Given the description of an element on the screen output the (x, y) to click on. 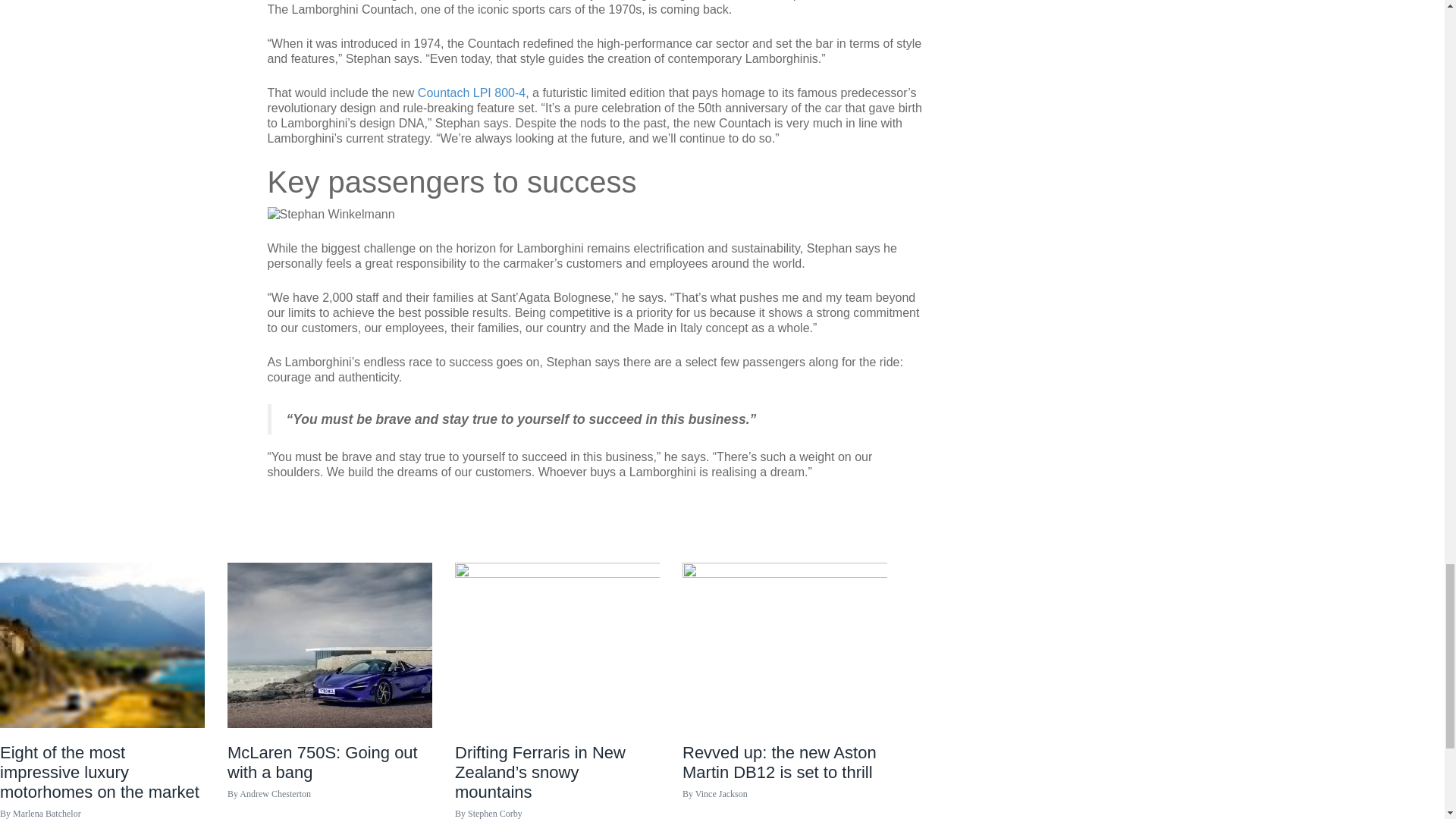
Revved up: the new Aston Martin DB12 is set to thrill (784, 780)
Revved up: the new Aston Martin DB12 is set to thrill (784, 644)
McLaren 750S: Going out with a bang (329, 644)
McLaren 750S: Going out with a bang (329, 780)
Eight of the most impressive luxury motorhomes on the market (102, 780)
Countach LPI 800-4 (471, 92)
Eight of the most impressive luxury motorhomes on the market (102, 644)
